Given the description of an element on the screen output the (x, y) to click on. 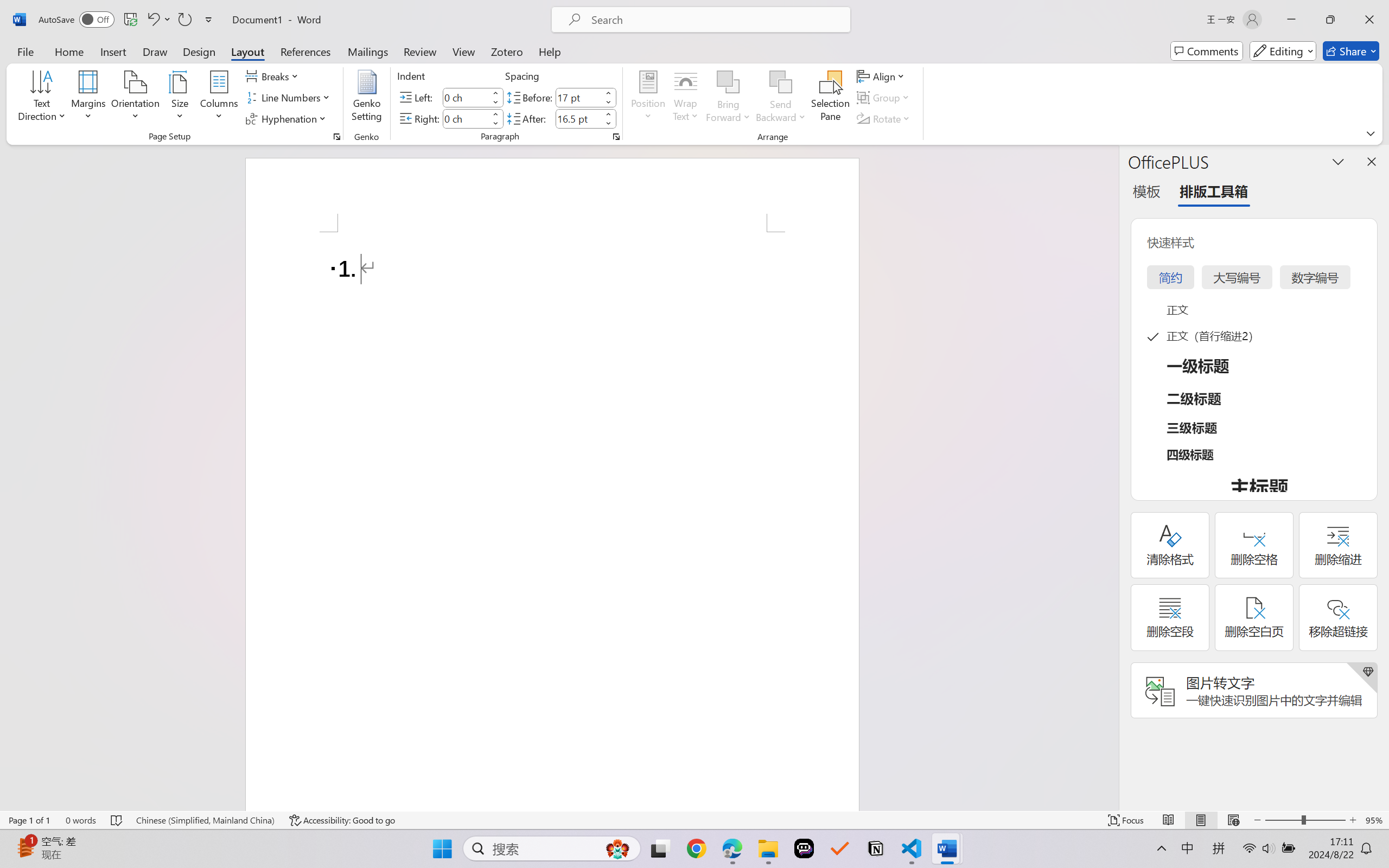
Language Chinese (Simplified, Mainland China) (205, 819)
Undo Number Default (152, 19)
Bring Forward (728, 97)
